Given the description of an element on the screen output the (x, y) to click on. 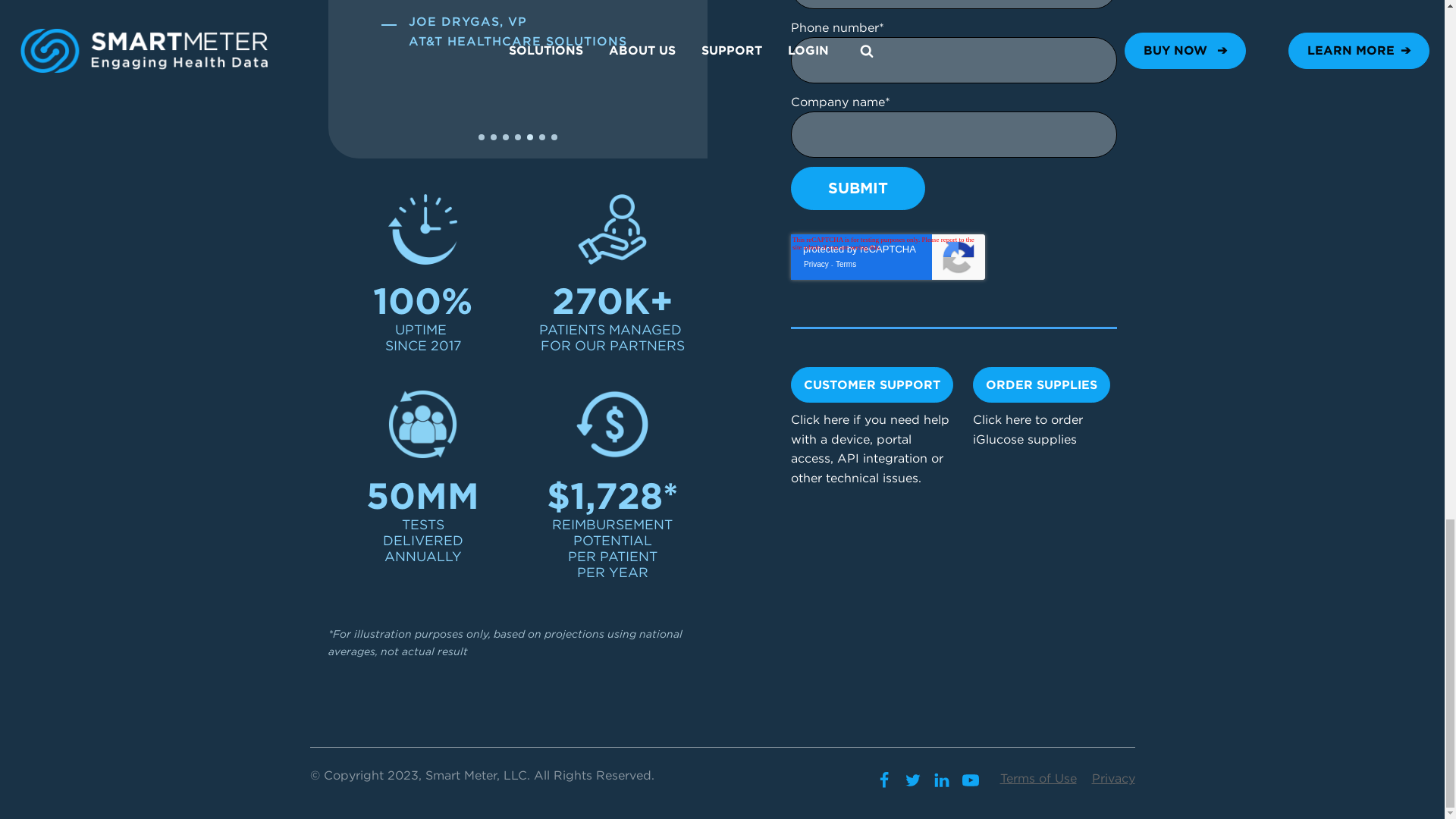
Submit (857, 188)
reCAPTCHA (887, 257)
